Given the description of an element on the screen output the (x, y) to click on. 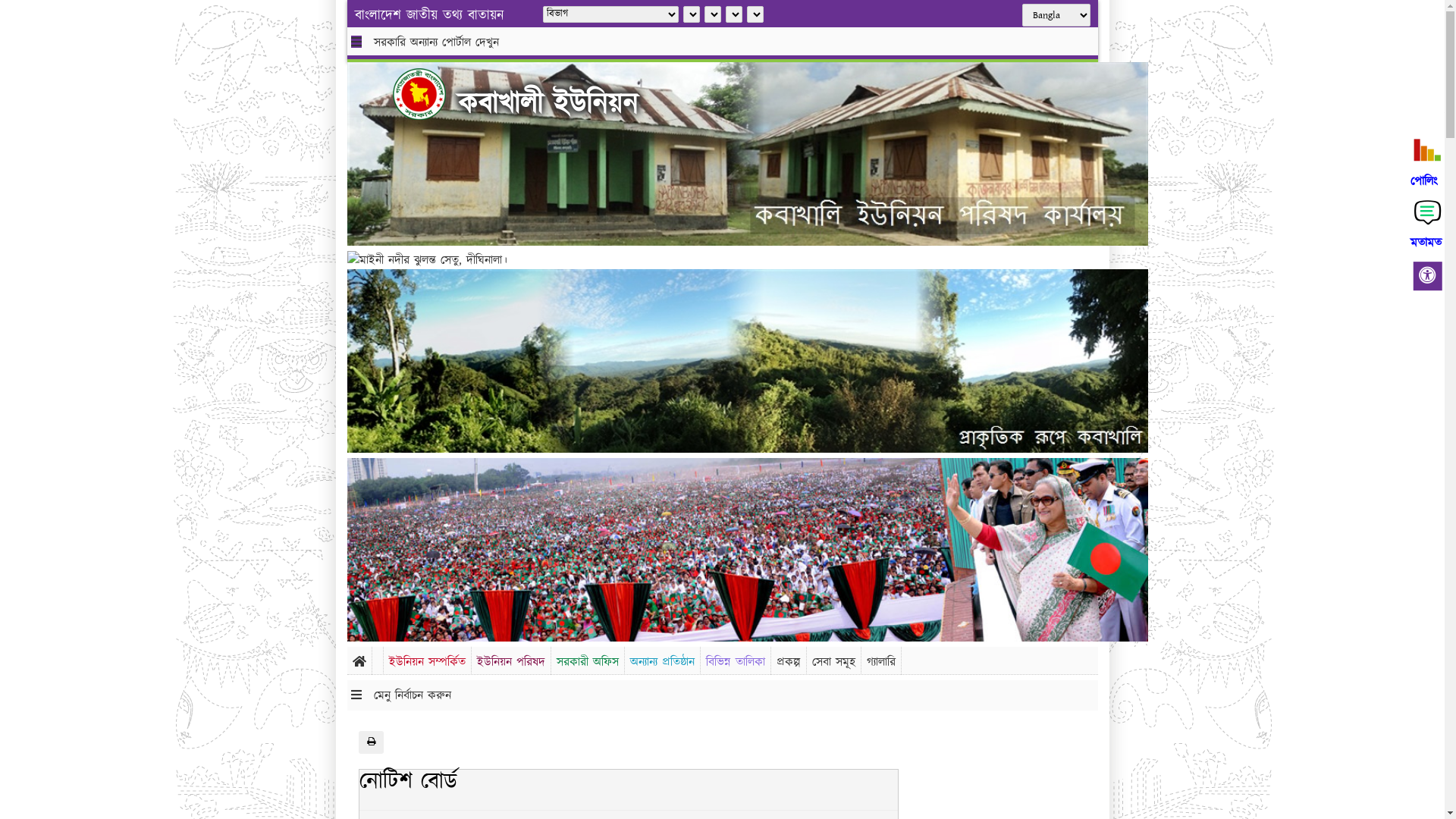

                
             Element type: hover (430, 93)
